Given the description of an element on the screen output the (x, y) to click on. 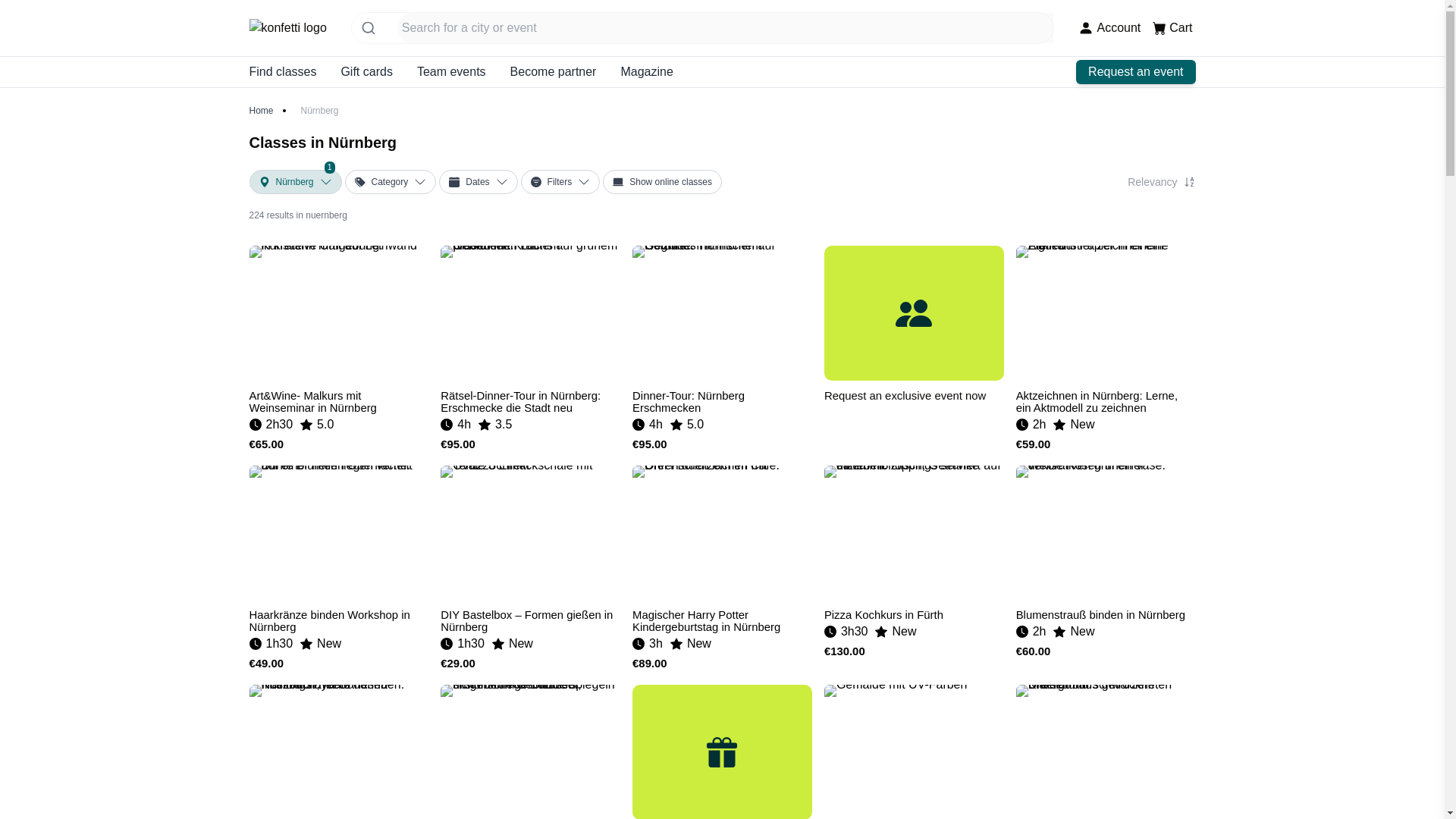
Gift cards (365, 71)
Request an event (1135, 71)
Become partner (553, 71)
Find classes (281, 71)
Team events (451, 71)
Account (1109, 27)
Home (260, 110)
Magazine (646, 71)
